Given the description of an element on the screen output the (x, y) to click on. 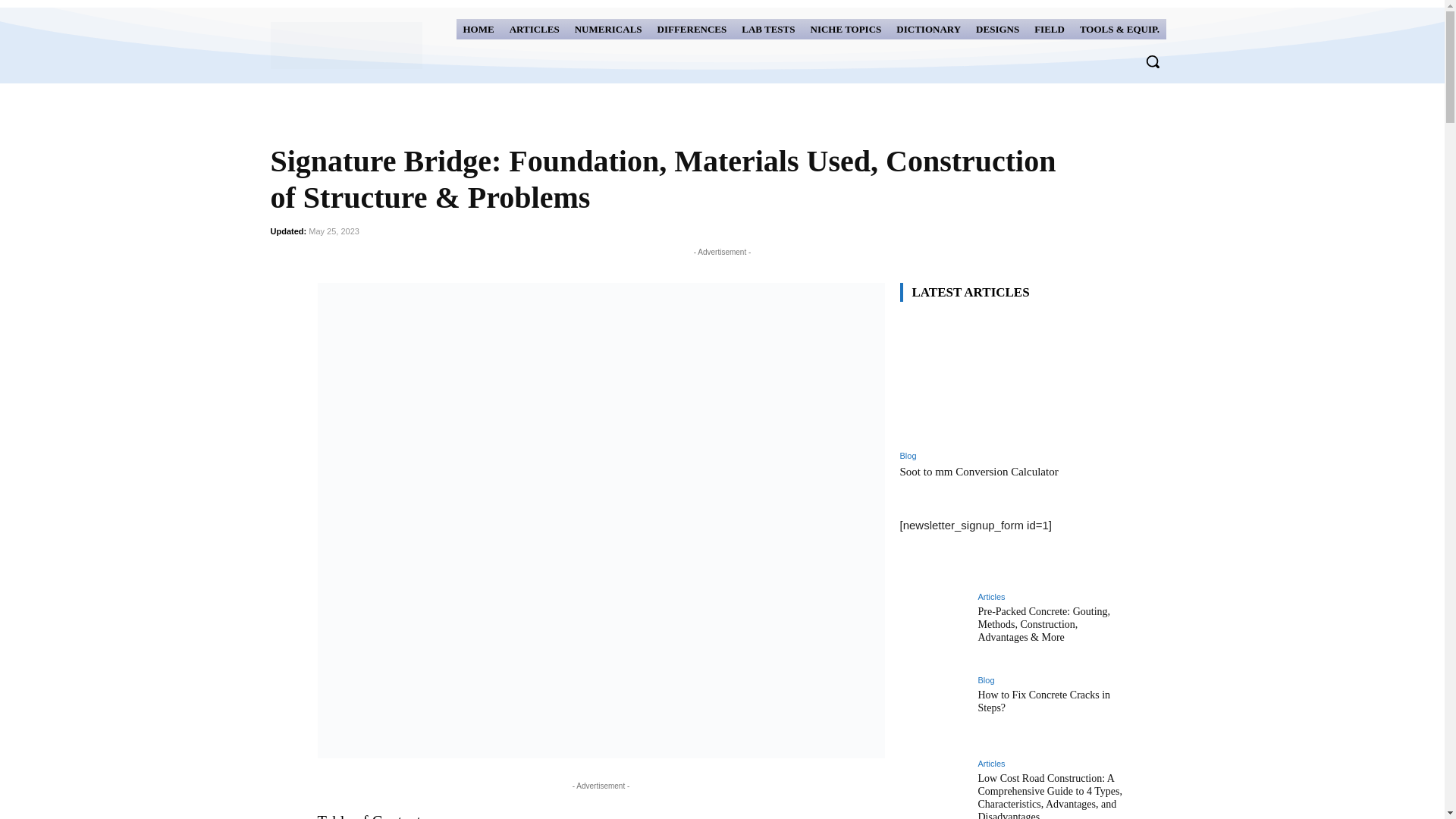
ARTICLES (534, 28)
DESIGNS (997, 28)
DIFFERENCES (691, 28)
FIELD (1049, 28)
DICTIONARY (928, 28)
HOME (478, 28)
NUMERICALS (608, 28)
NICHE TOPICS (845, 28)
LAB TESTS (768, 28)
